Given the description of an element on the screen output the (x, y) to click on. 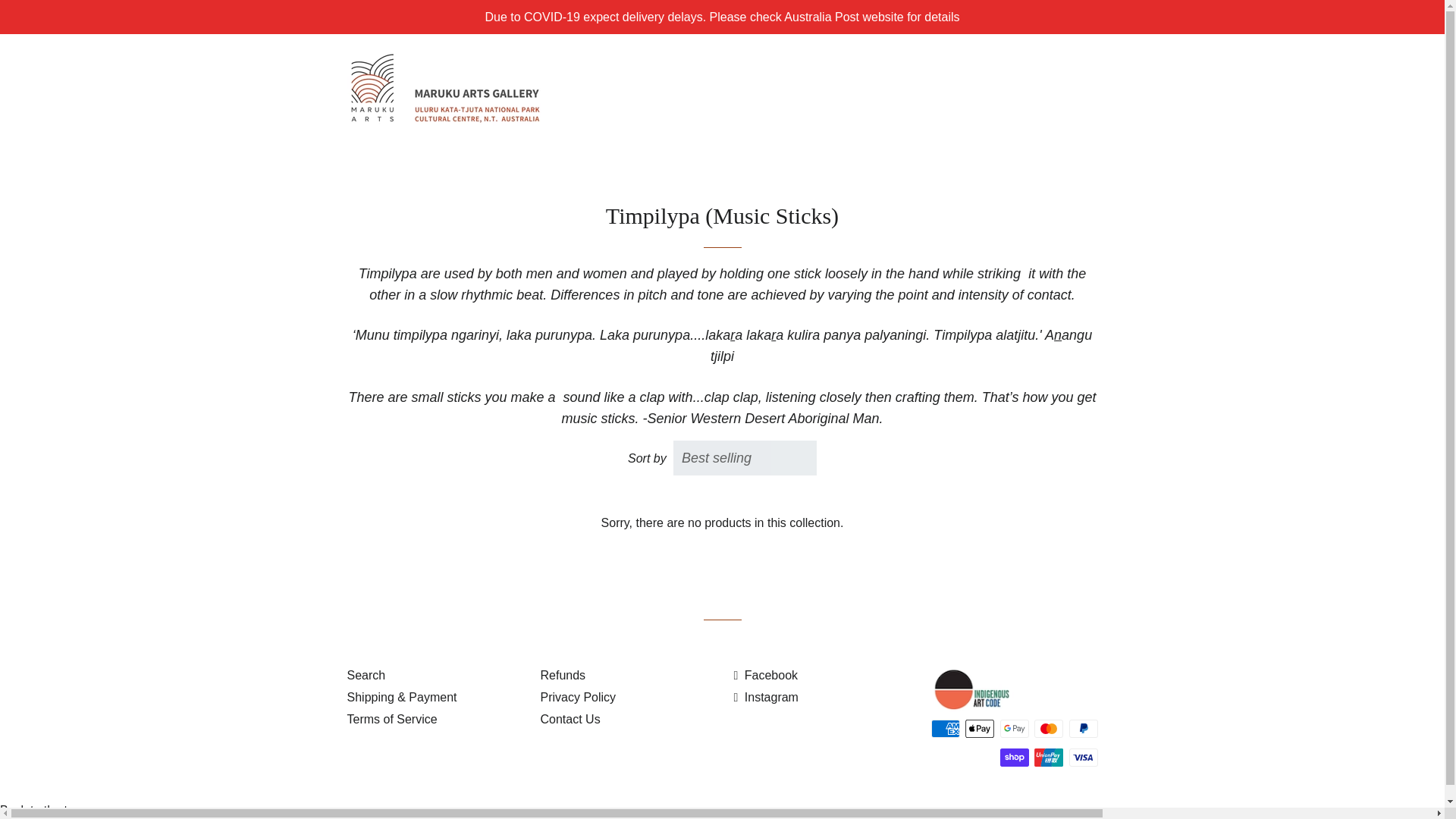
Union Pay (1047, 757)
Google Pay (1012, 728)
Shop Pay (1012, 757)
American Express (945, 728)
Back to the top (40, 809)
Maruku Arts on Instagram (765, 697)
Maruku Arts on Facebook (765, 675)
Mastercard (1047, 728)
Apple Pay (979, 728)
Visa (1082, 757)
